Given the description of an element on the screen output the (x, y) to click on. 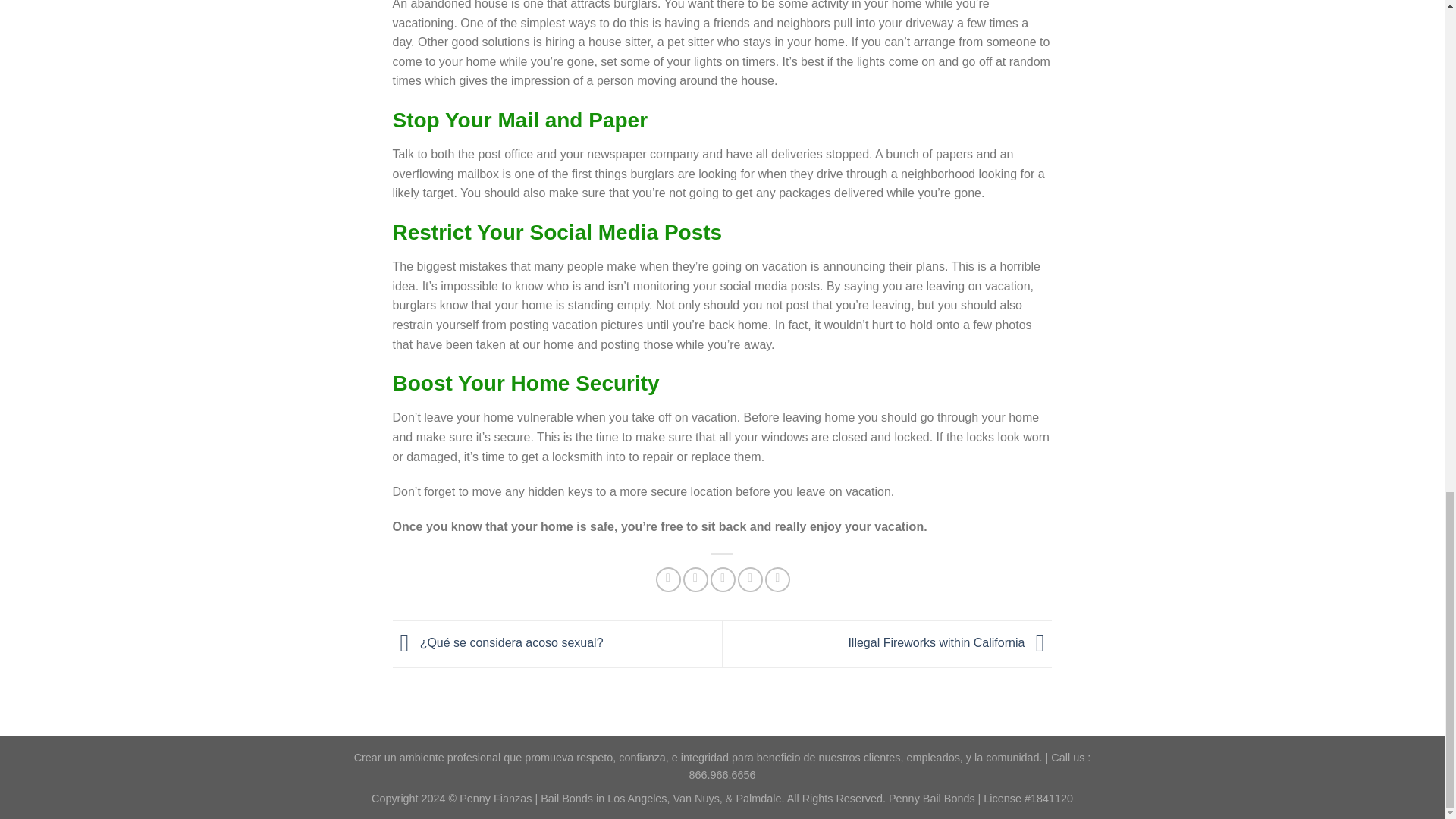
Share on LinkedIn (777, 579)
Share on Twitter (694, 579)
Share on Facebook (668, 579)
Pin on Pinterest (750, 579)
Email to a Friend (722, 579)
